Given the description of an element on the screen output the (x, y) to click on. 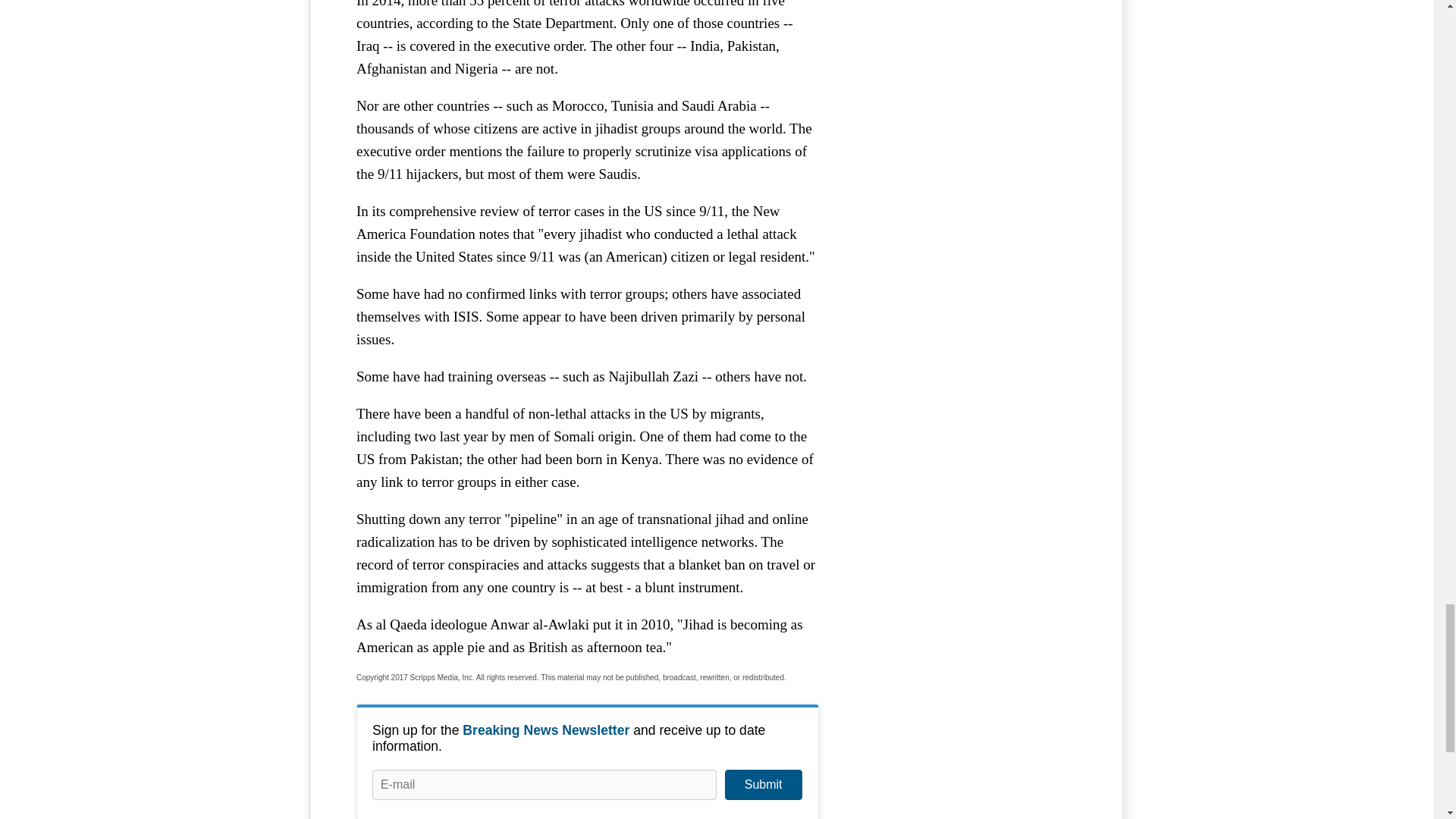
Submit (763, 784)
